Given the description of an element on the screen output the (x, y) to click on. 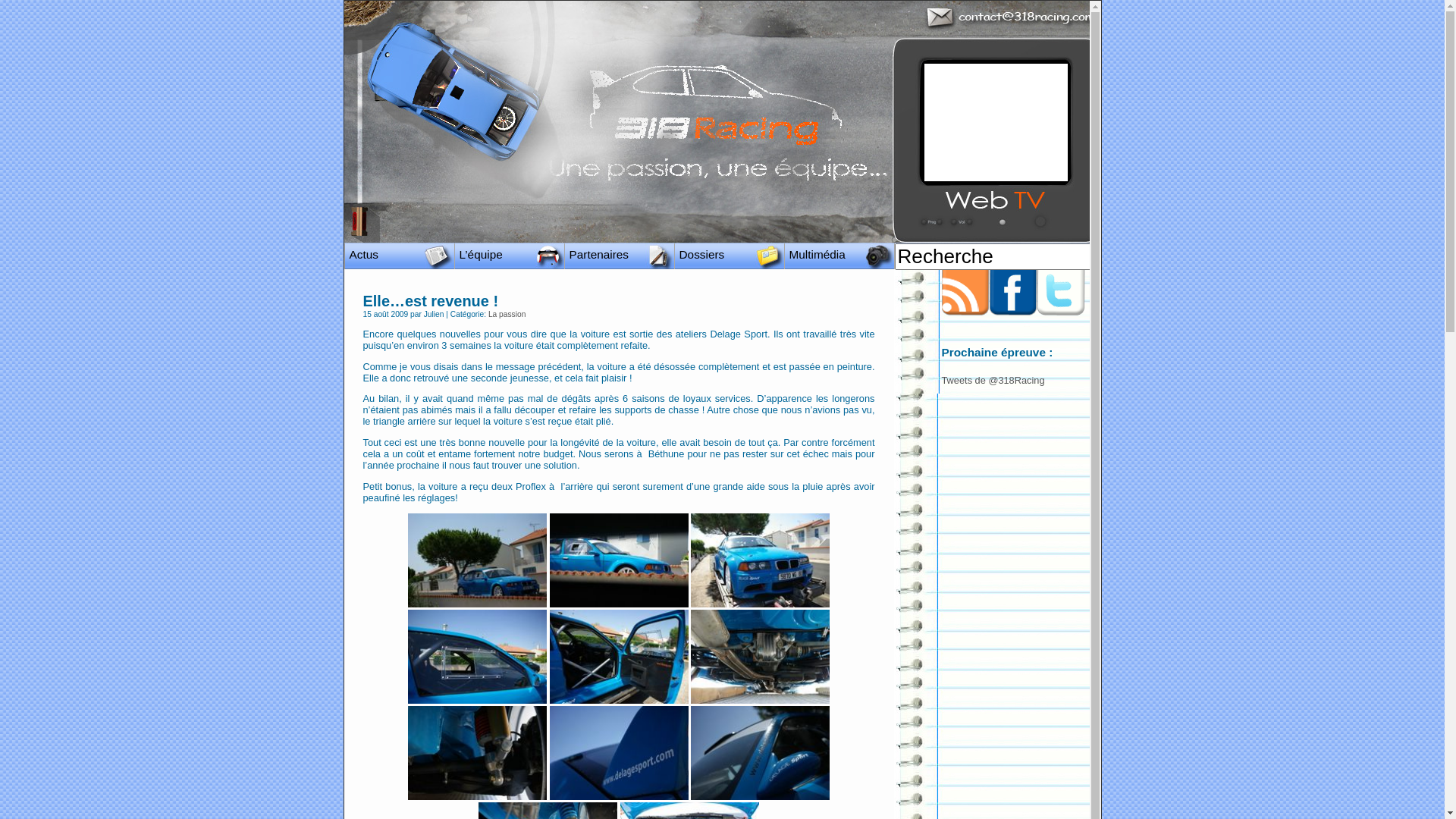
IMGP0615 Element type: hover (476, 656)
IMGP0608 Element type: hover (618, 560)
Dossiers Element type: text (732, 254)
IMGP0612 Element type: hover (759, 560)
YouTube video player Element type: hover (994, 122)
IMGP0652 Element type: hover (476, 560)
IMGP0630 Element type: hover (618, 753)
IMGP0623 Element type: hover (618, 656)
La passion Element type: text (507, 314)
IMGP0628 Element type: hover (759, 656)
Actus Element type: text (402, 254)
Tweets de @318Racing Element type: text (992, 379)
IMGP0629 Element type: hover (476, 753)
Partenaires Element type: text (622, 254)
IMGP0631 Element type: hover (759, 753)
